Given the description of an element on the screen output the (x, y) to click on. 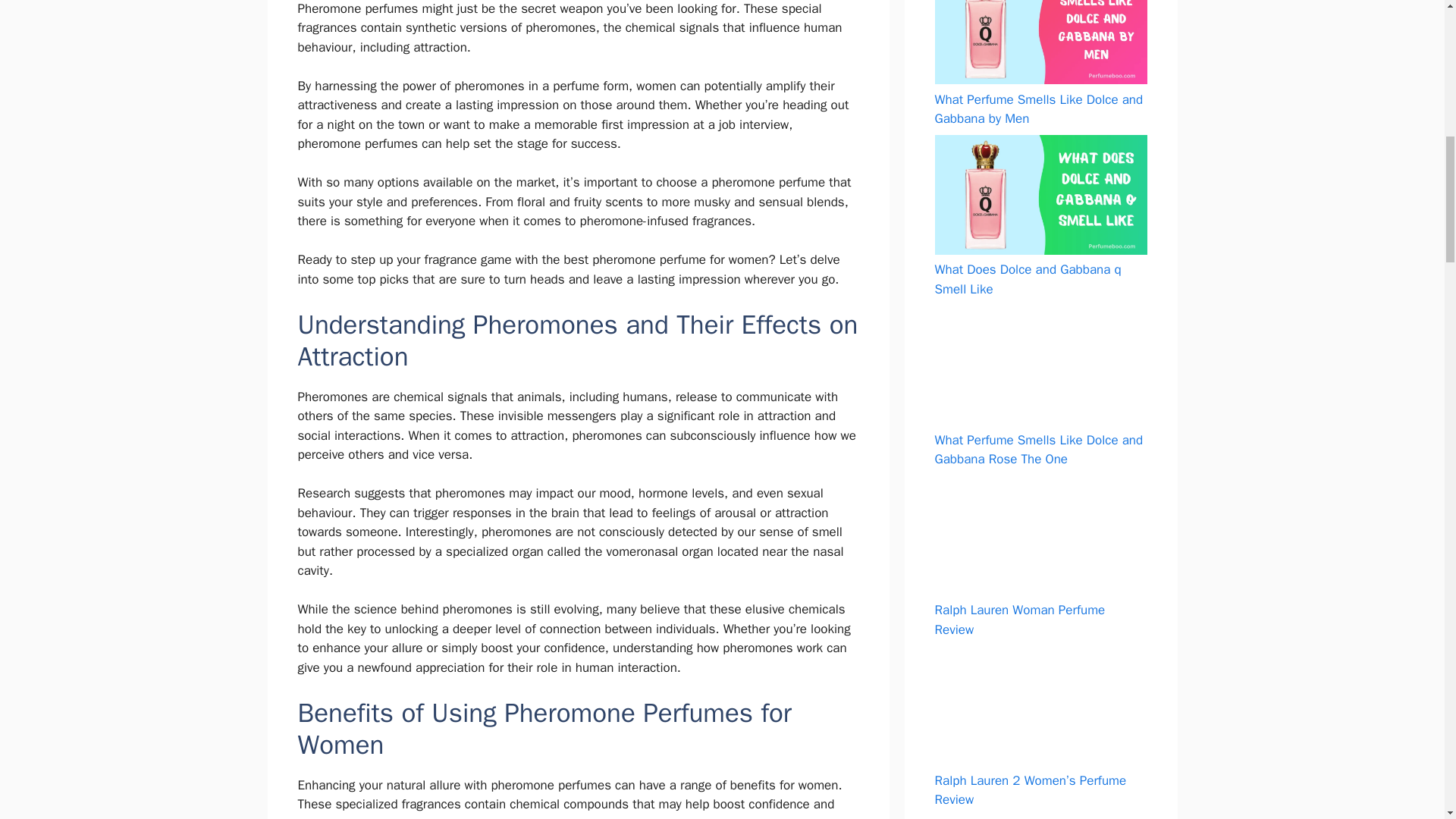
What Perfume Smells Like Dolce and Gabbana by Men (1038, 108)
What Perfume Smells Like Dolce and Gabbana Rose The One (1038, 449)
What Does Dolce and Gabbana q Smell Like (1027, 279)
